Given the description of an element on the screen output the (x, y) to click on. 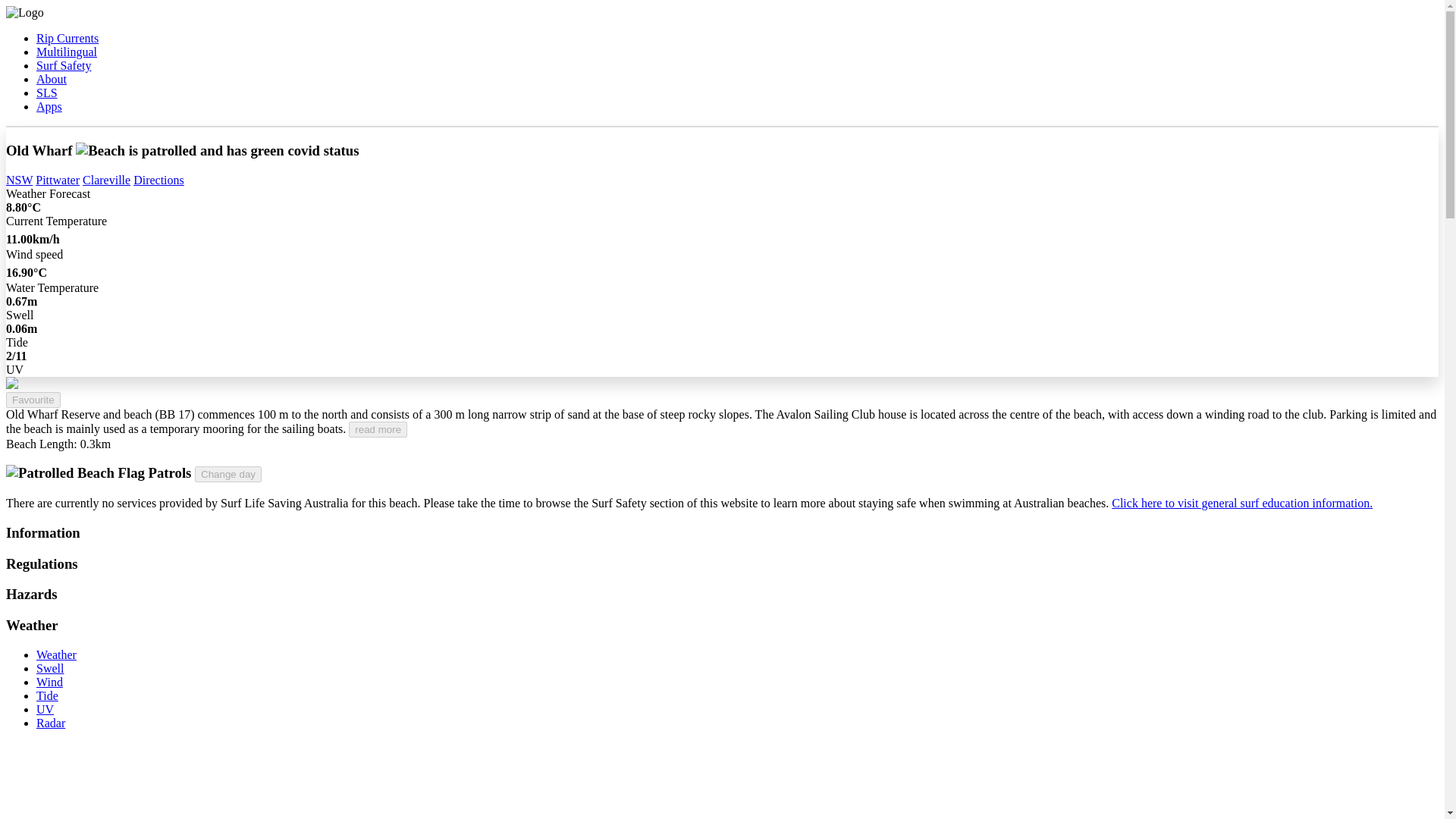
Favourite (33, 399)
Clareville (106, 179)
Surf Safety (63, 65)
Wind (49, 681)
Click here to visit general surf education information. (1242, 502)
Radar (50, 722)
Directions (158, 179)
Multilingual (66, 51)
Weather (56, 654)
read more (378, 429)
Change day (228, 474)
Apps (49, 106)
NSW (18, 179)
SLS (47, 92)
About (51, 78)
